Given the description of an element on the screen output the (x, y) to click on. 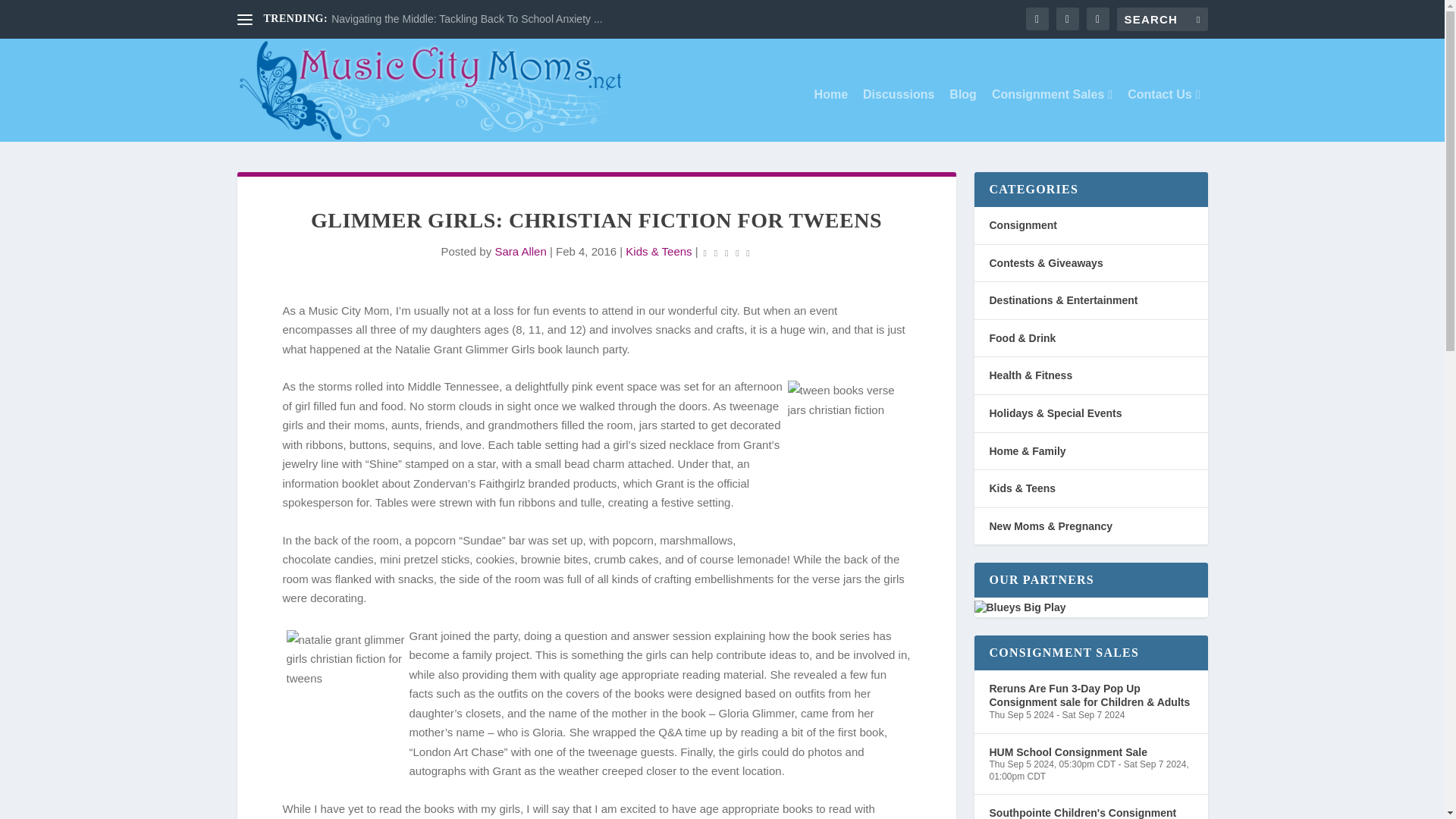
Navigating the Middle: Tackling Back To School Anxiety ... (466, 19)
Discussions (898, 114)
Posts by Sara Allen (520, 250)
Search for: (1161, 19)
Sara Allen (520, 250)
Rating: 0.00 (726, 251)
Consignment Sales (1051, 114)
Contact Us (1162, 114)
